Given the description of an element on the screen output the (x, y) to click on. 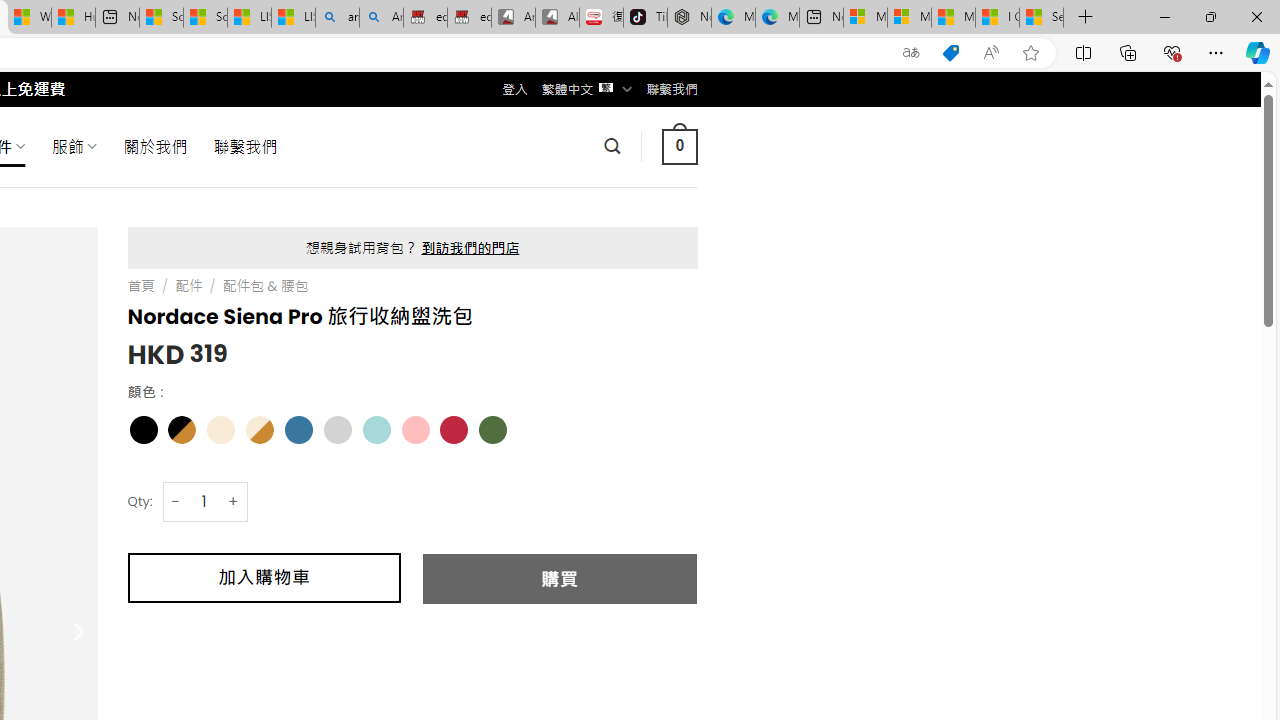
This site has coupons! Shopping in Microsoft Edge (950, 53)
Huge shark washes ashore at New York City beach | Watch (73, 17)
- (175, 501)
